Given the description of an element on the screen output the (x, y) to click on. 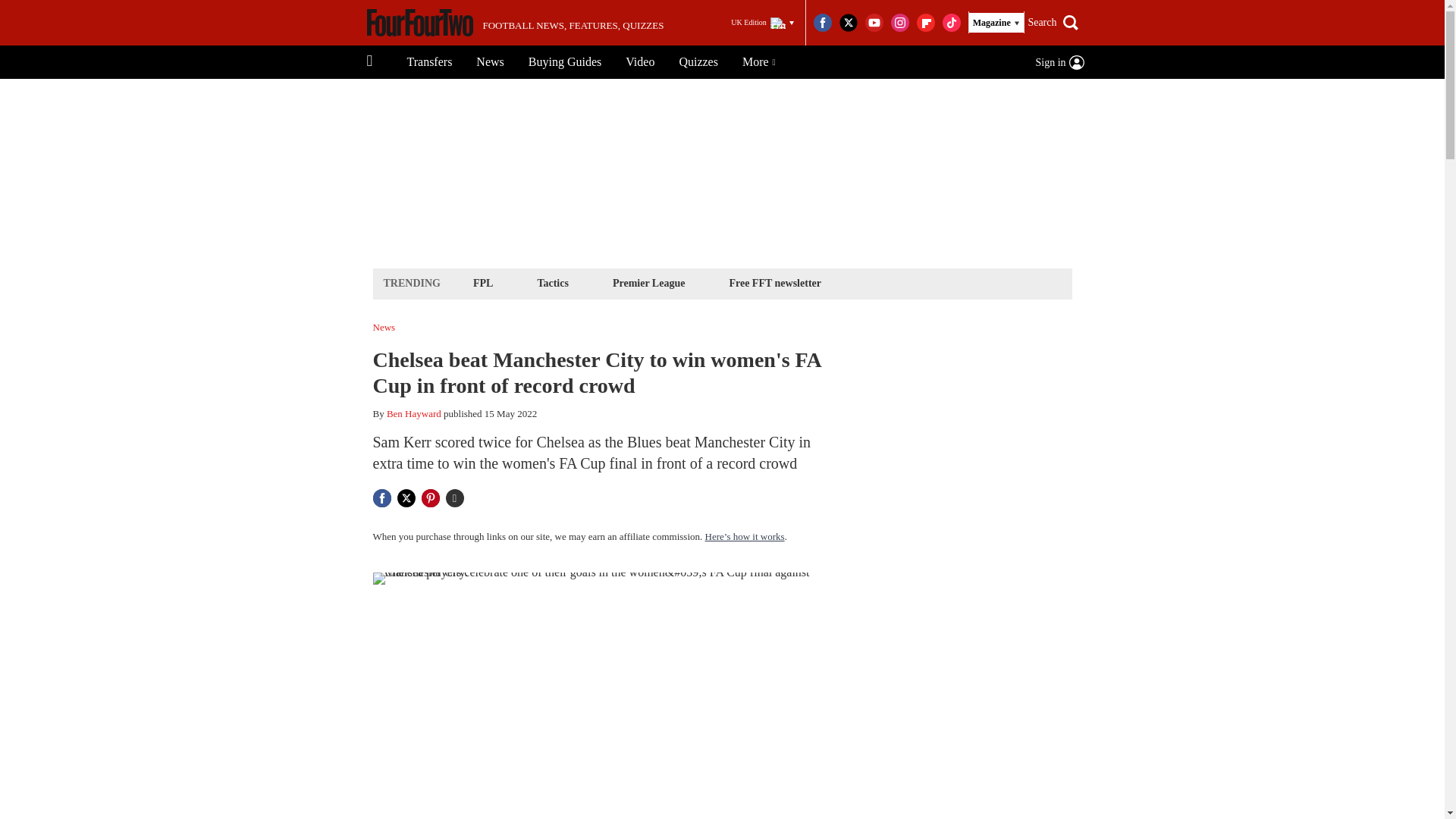
FPL (482, 282)
Quizzes (698, 61)
UK Edition (761, 22)
News (489, 61)
Buying Guides (564, 61)
Video (639, 61)
Premier League (648, 282)
FOOTBALL NEWS, FEATURES, QUIZZES (514, 22)
Transfers (429, 61)
Ben Hayward (414, 413)
